Given the description of an element on the screen output the (x, y) to click on. 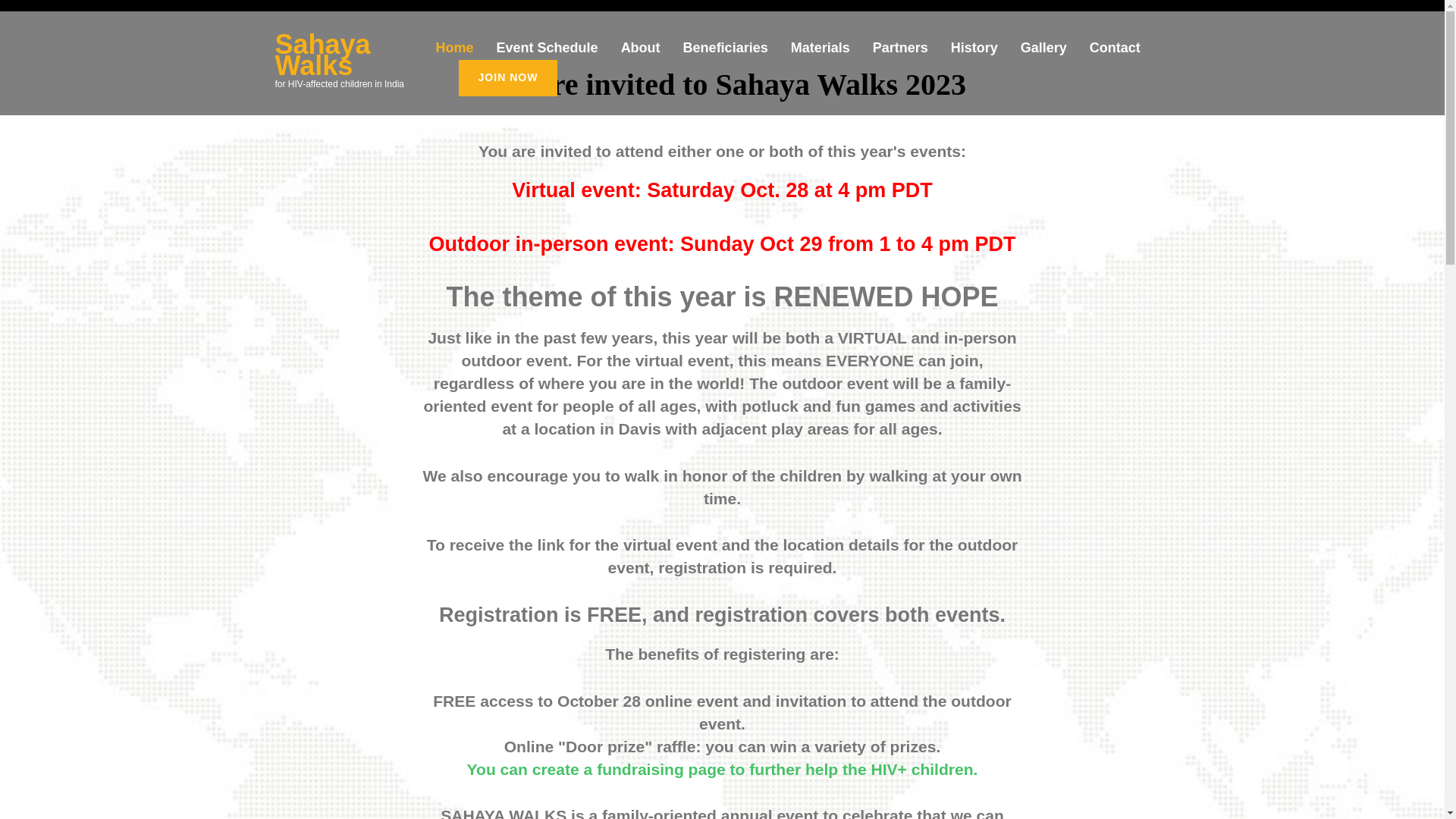
Gallery (1043, 53)
About (641, 53)
JOIN NOW (507, 77)
Home (454, 53)
Beneficiaries (725, 53)
Event Schedule (547, 53)
Sahaya Walks (322, 54)
History (973, 53)
Contact (1114, 53)
Materials (820, 53)
